Given the description of an element on the screen output the (x, y) to click on. 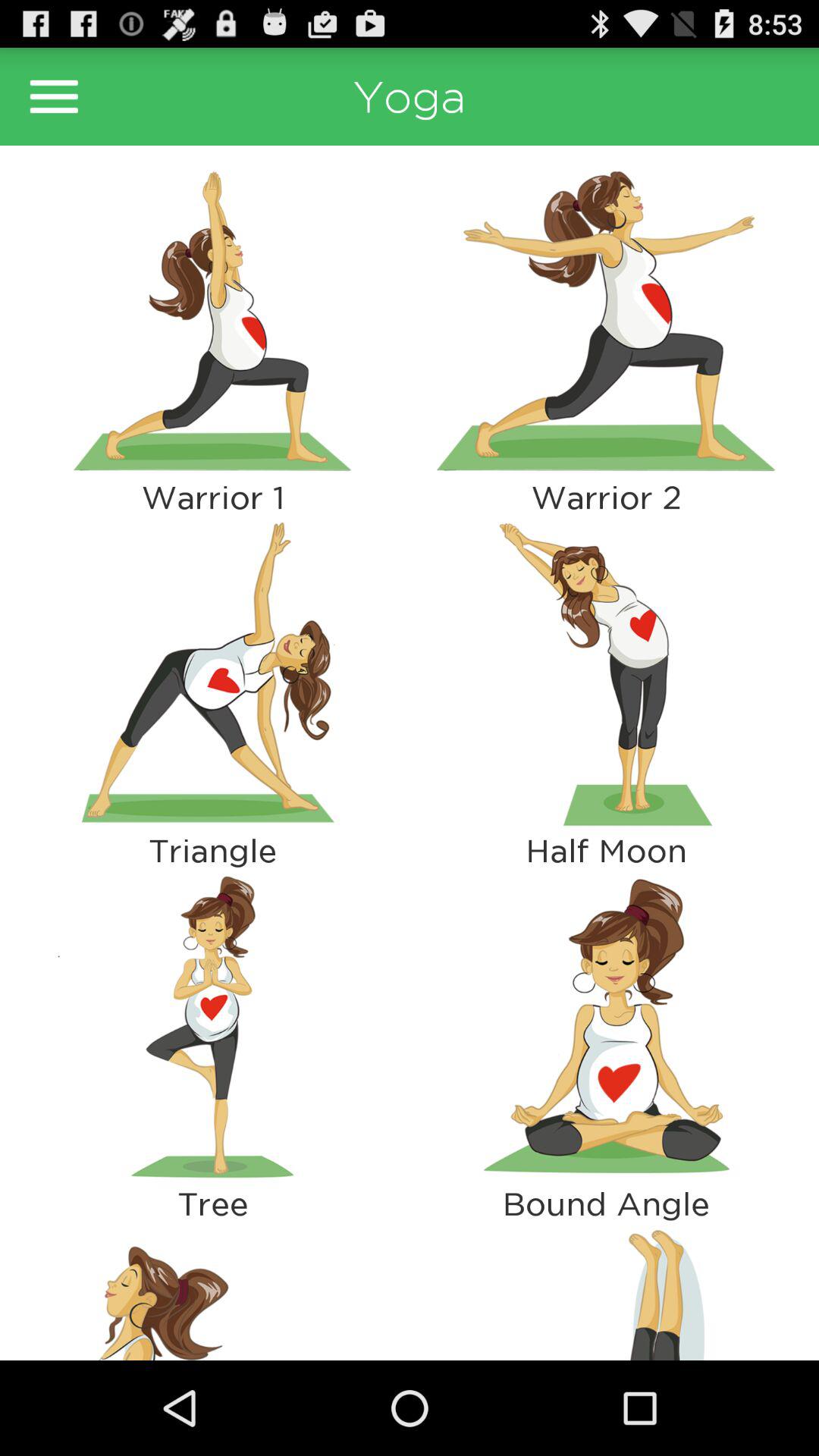
start instructions (212, 1026)
